Given the description of an element on the screen output the (x, y) to click on. 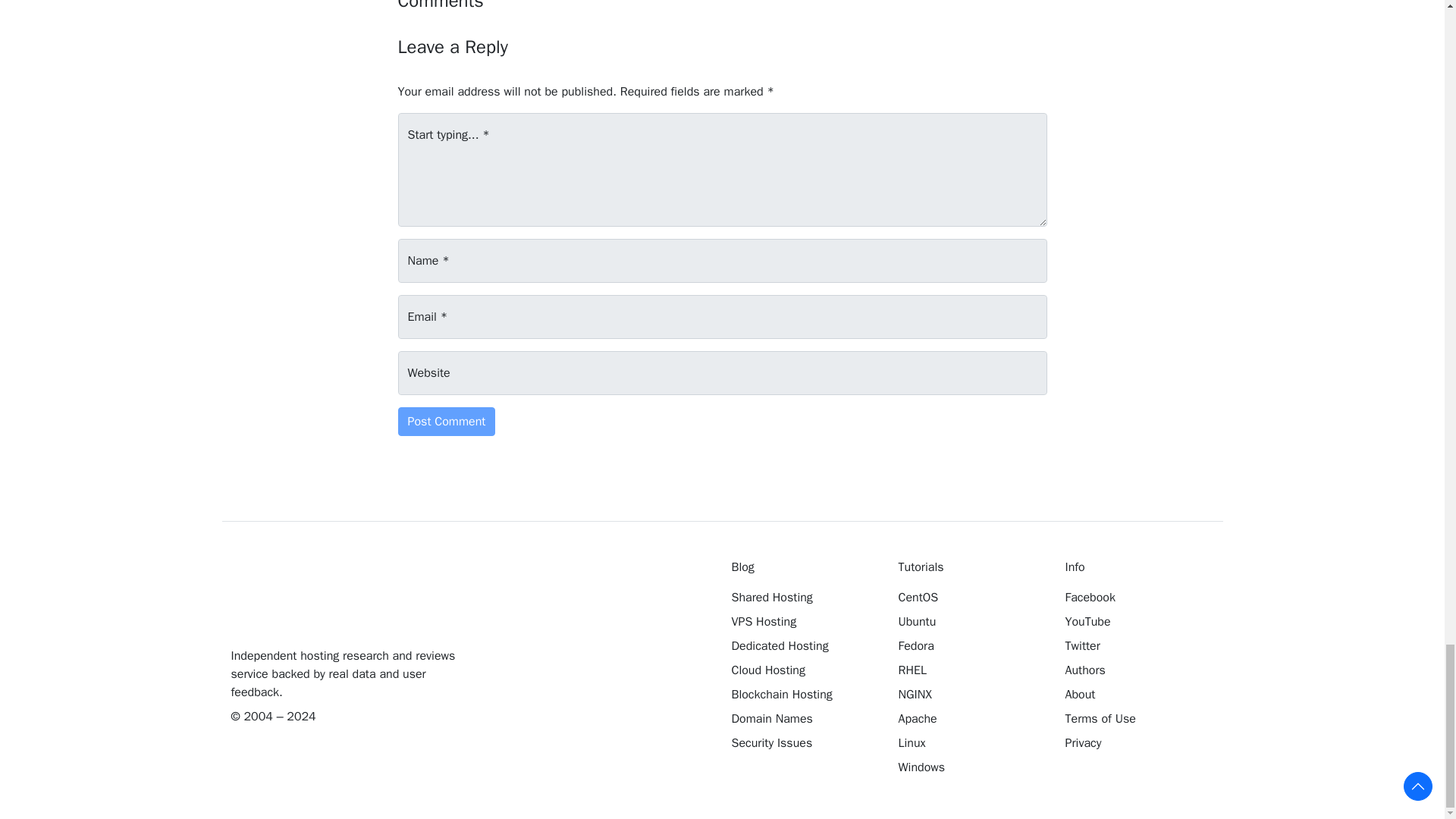
Domain Names (803, 719)
VPS Hosting (803, 621)
Cloud Hosting (803, 669)
Blockchain Hosting (803, 694)
Shared Hosting (803, 597)
Dedicated Hosting (803, 646)
Post Comment (446, 421)
Post Comment (446, 421)
